Given the description of an element on the screen output the (x, y) to click on. 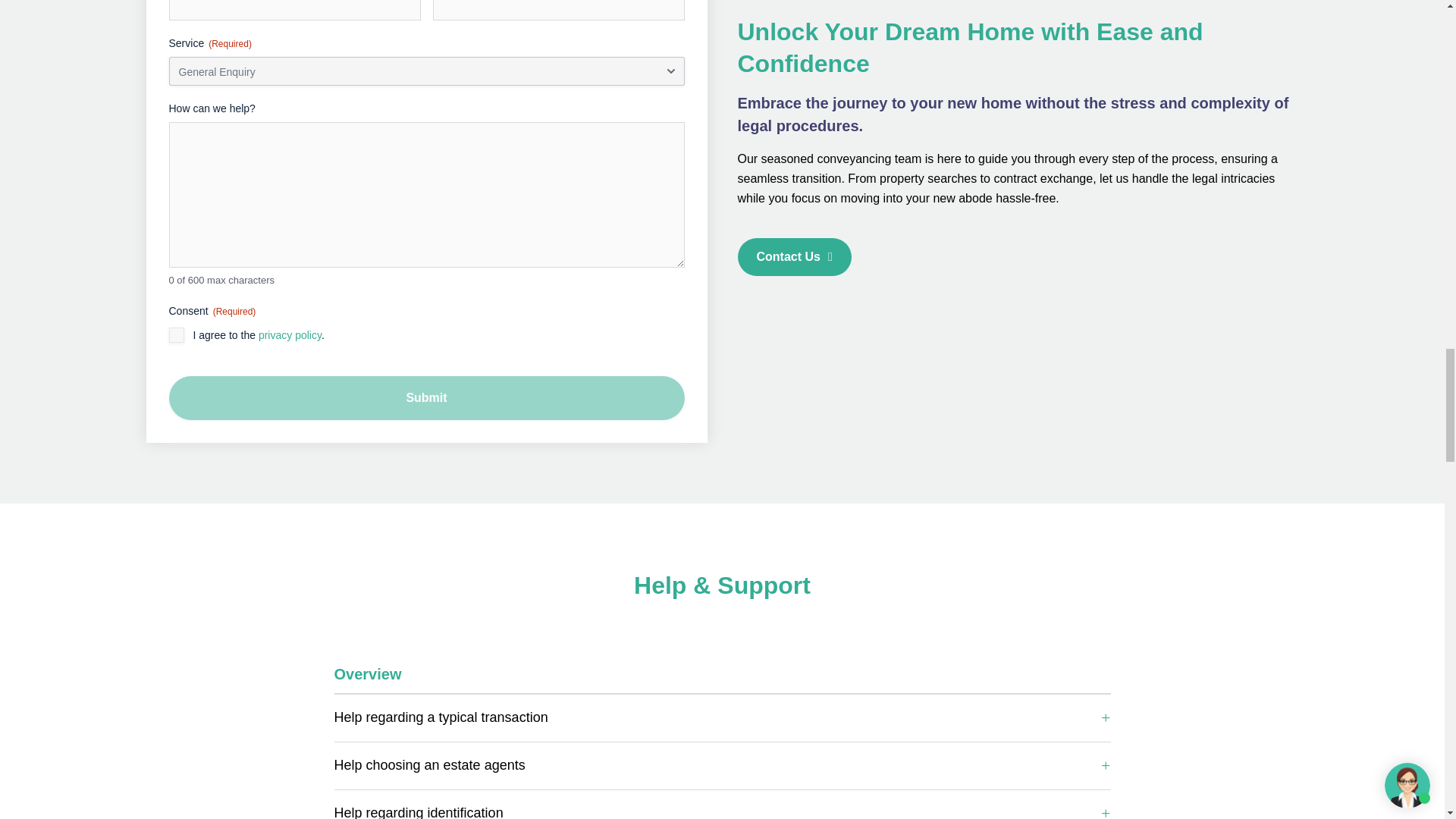
1 (175, 335)
Submit (426, 397)
